Given the description of an element on the screen output the (x, y) to click on. 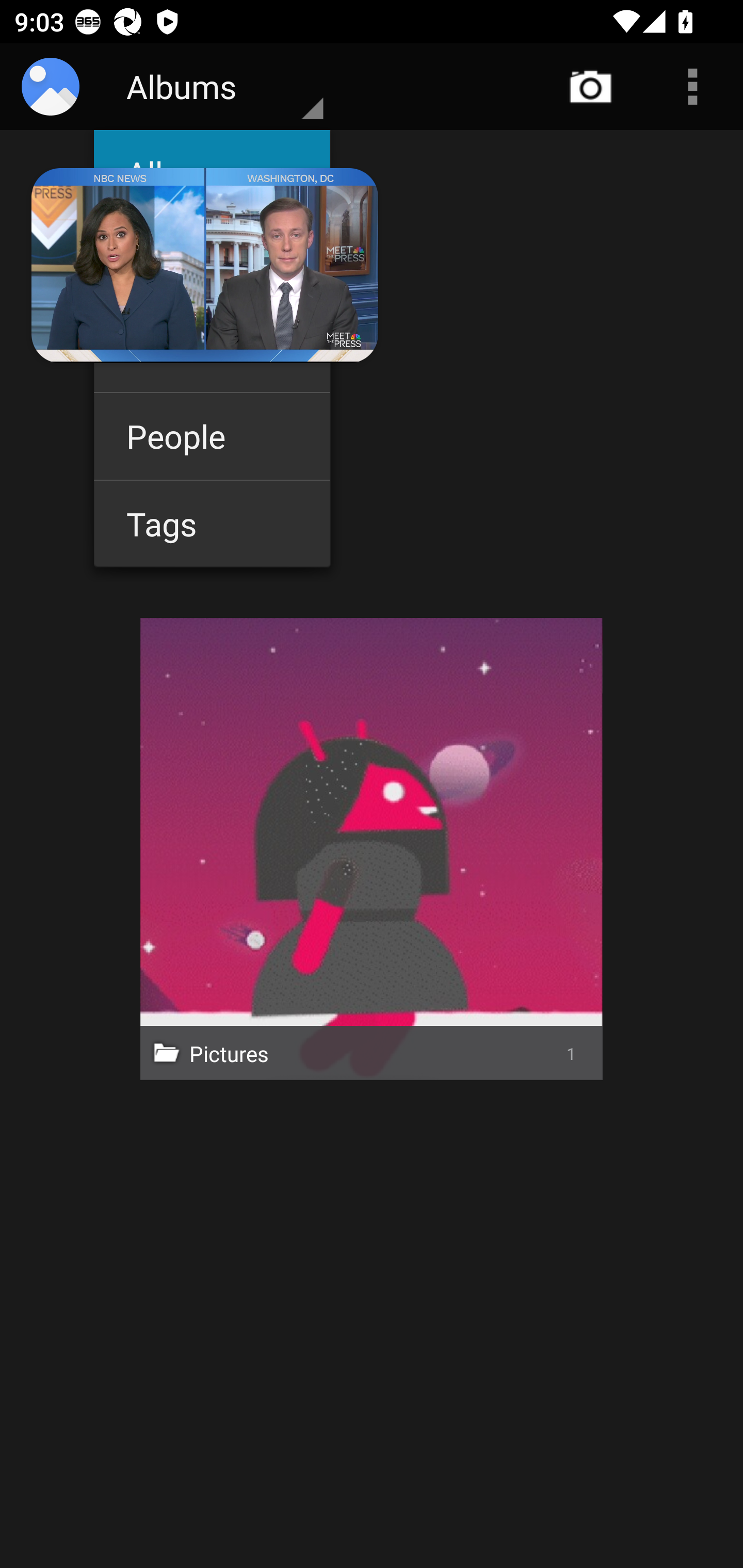
Albums (211, 173)
Locations (211, 260)
Times (211, 348)
People (211, 436)
Tags (211, 524)
